Given the description of an element on the screen output the (x, y) to click on. 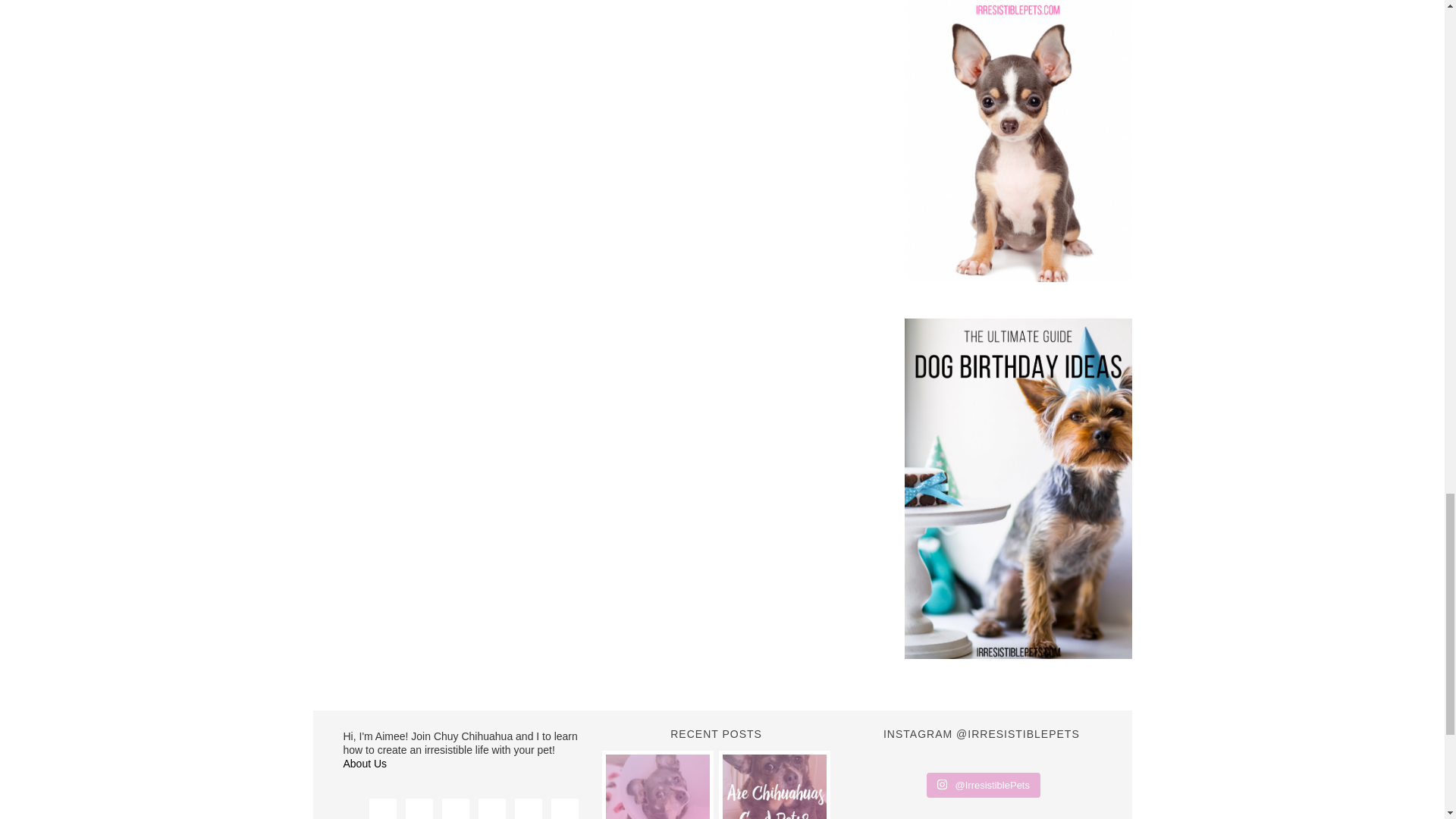
About Us (364, 763)
Are Chihuahuas Good Pets? (773, 786)
My Chihuahua Had a Splenectomy (657, 786)
